Given the description of an element on the screen output the (x, y) to click on. 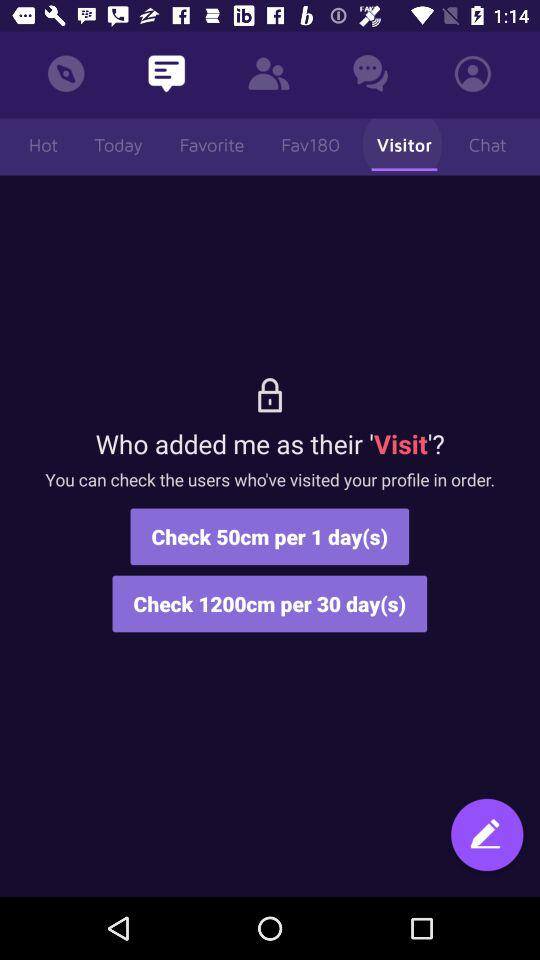
chat with friends (487, 844)
